Given the description of an element on the screen output the (x, y) to click on. 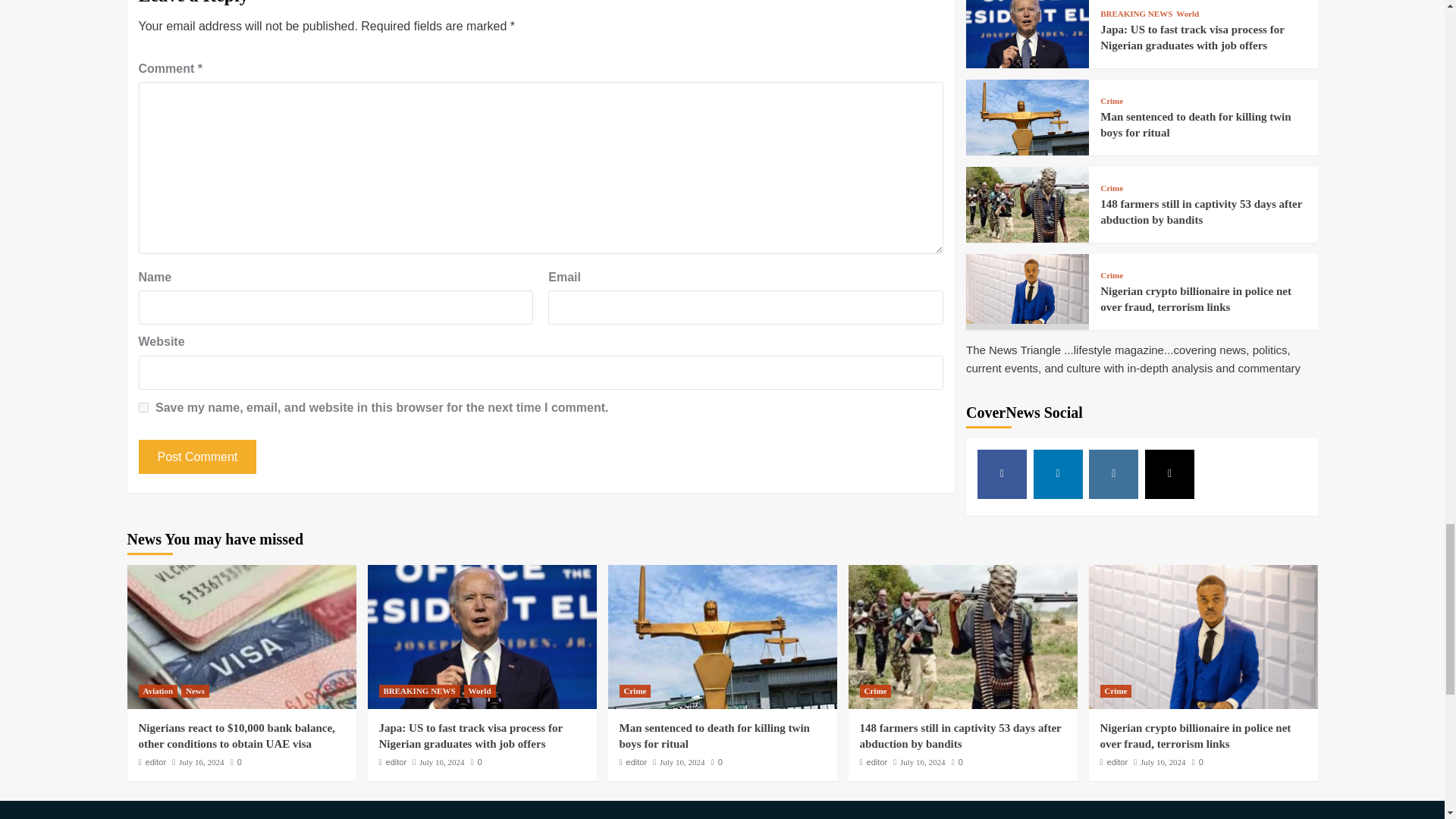
yes (143, 407)
Post Comment (197, 456)
